Given the description of an element on the screen output the (x, y) to click on. 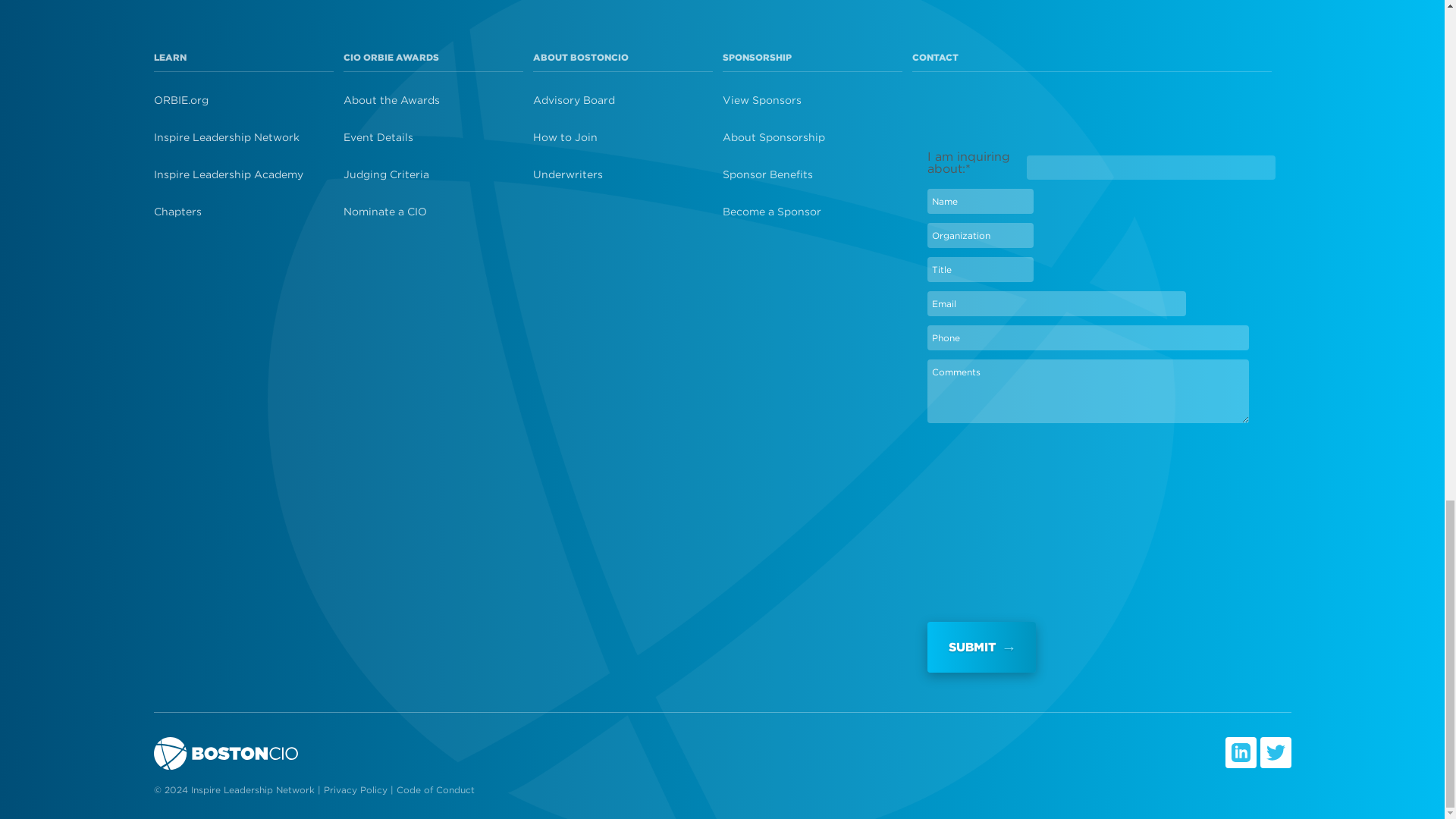
SPONSORSHIP (756, 57)
ABOUT BOSTONCIO (579, 57)
About Sponsorship (816, 136)
Judging Criteria (437, 173)
View Sponsors (816, 99)
ORBIE.org (247, 99)
CIO ORBIE AWARDS (390, 57)
Chapters (247, 211)
Event Details (437, 136)
Inspire Leadership Academy (247, 173)
